Given the description of an element on the screen output the (x, y) to click on. 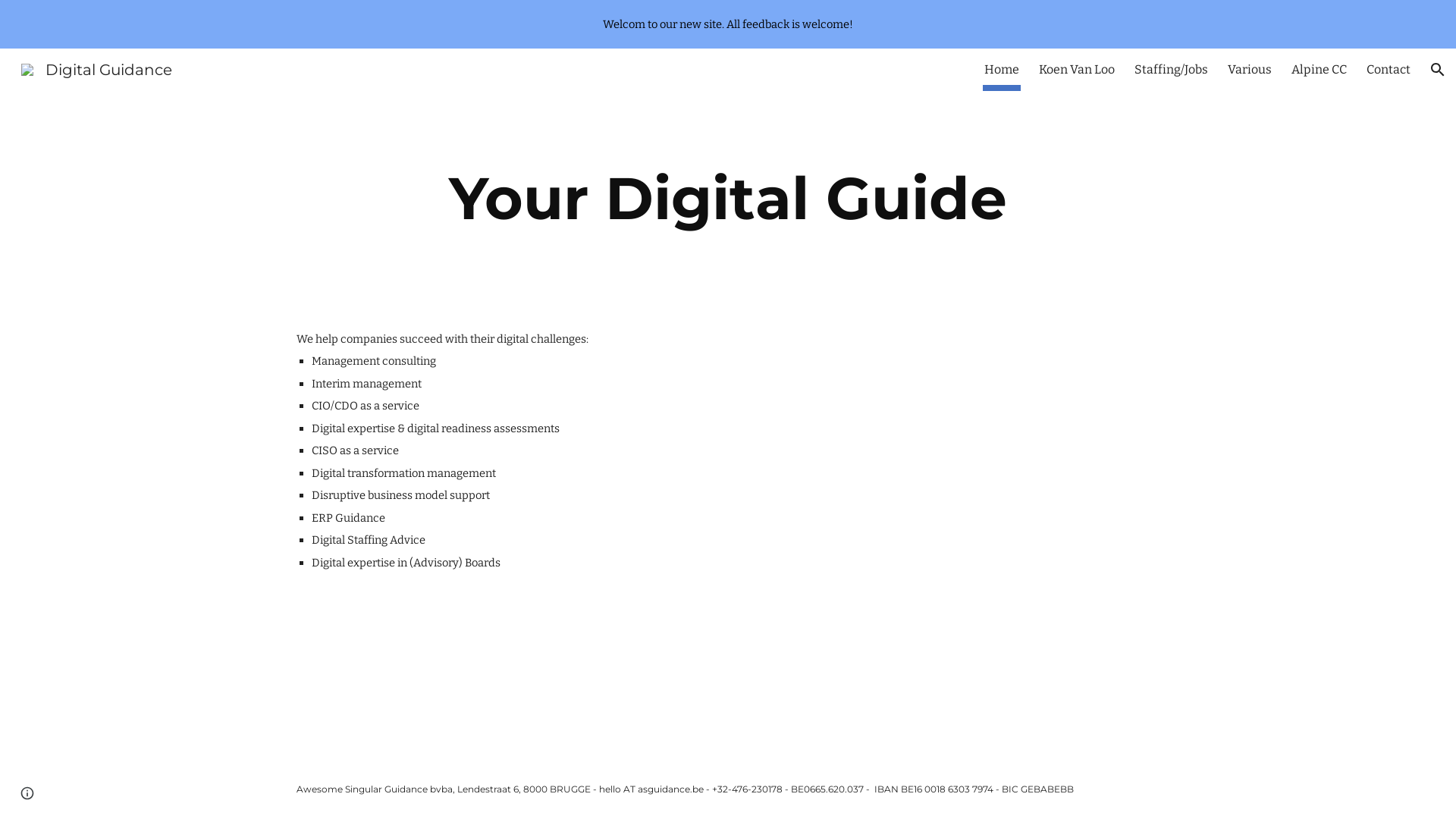
Various Element type: text (1249, 69)
Contact Element type: text (1388, 69)
Staffing/Jobs Element type: text (1171, 69)
Alpine CC Element type: text (1318, 69)
Home Element type: text (1001, 69)
Koen Van Loo Element type: text (1076, 69)
Digital Guidance Element type: text (96, 68)
